Given the description of an element on the screen output the (x, y) to click on. 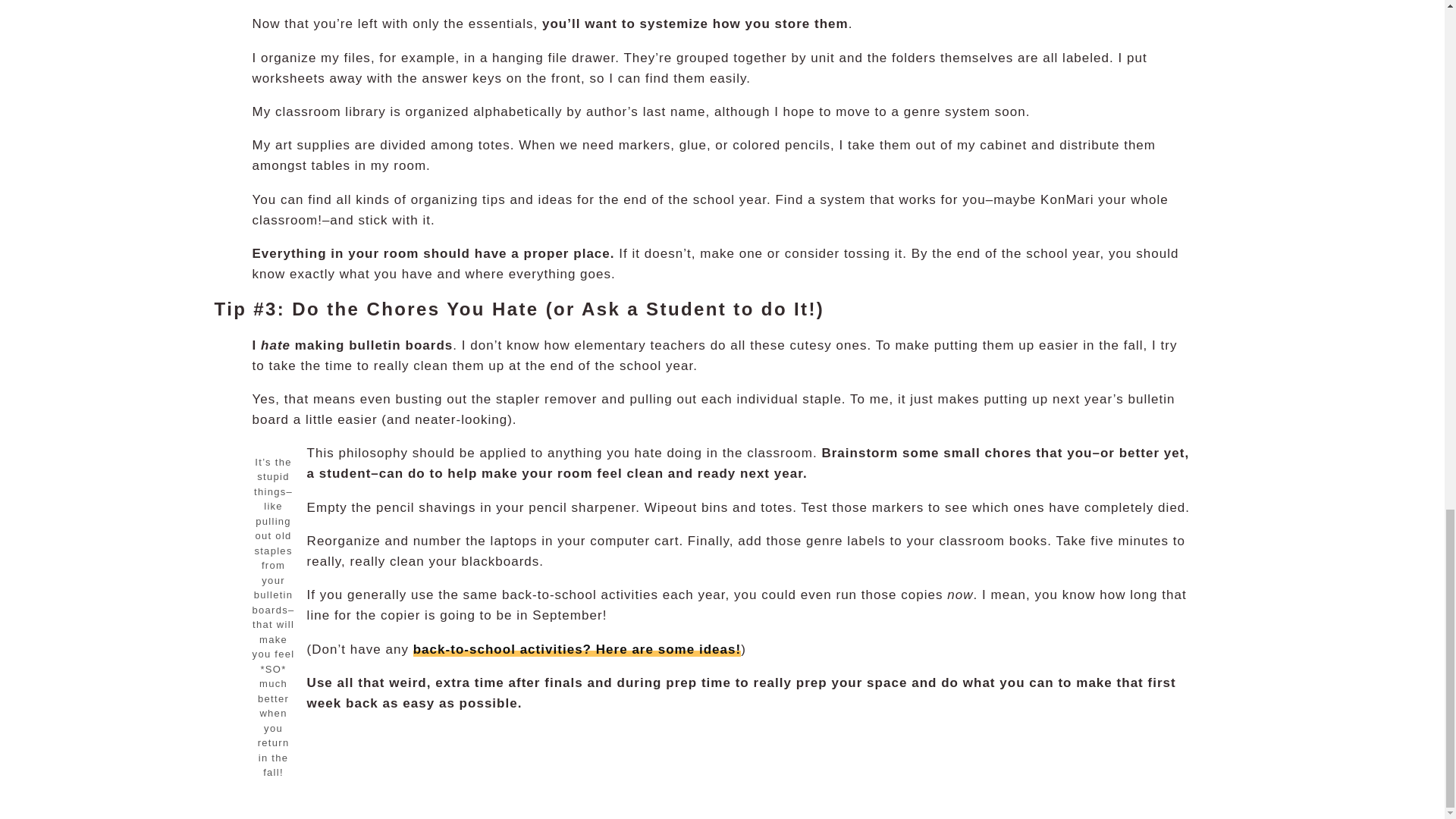
back-to-school activities? Here are some ideas! (577, 649)
